Given the description of an element on the screen output the (x, y) to click on. 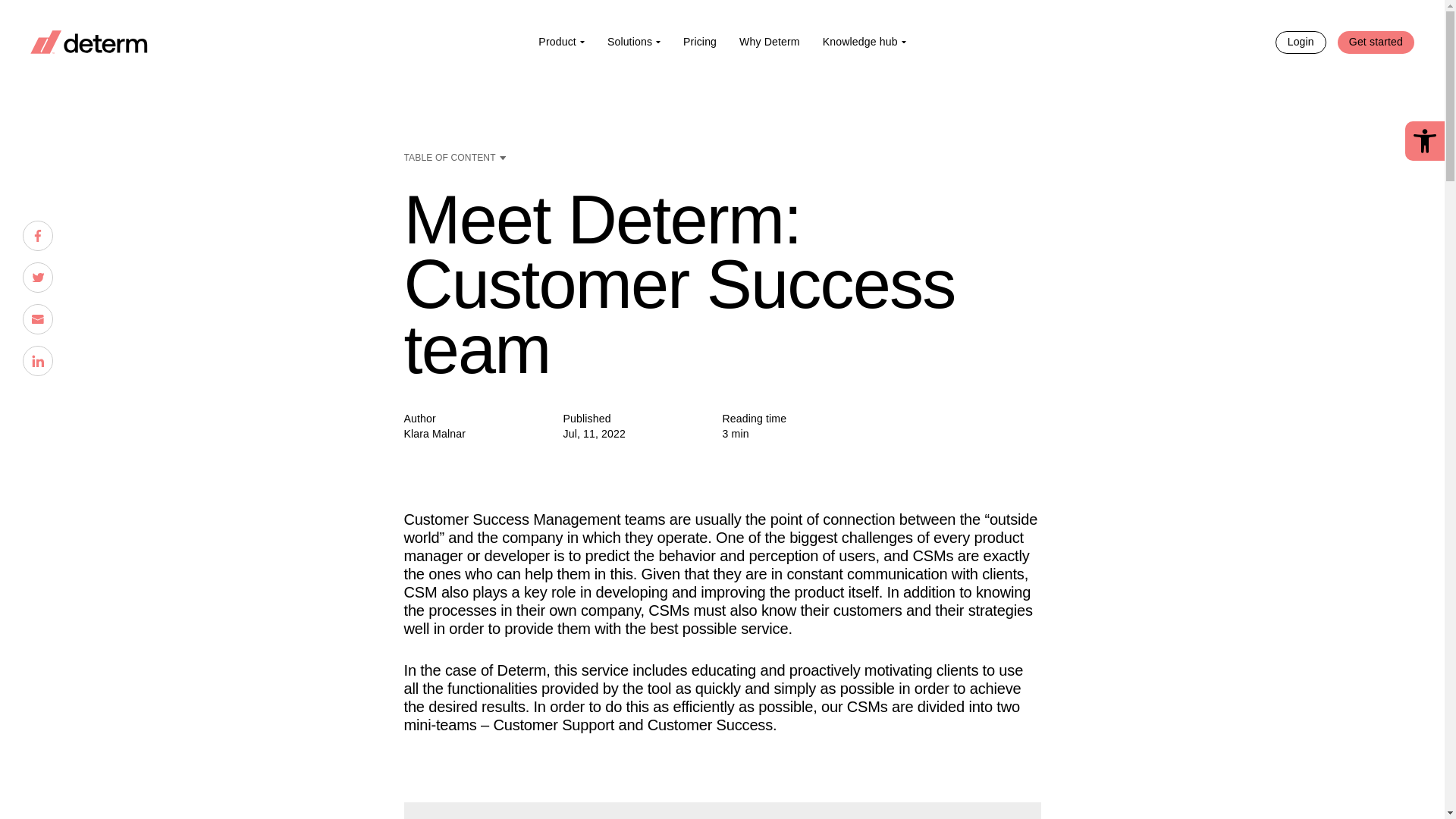
Pricing (699, 41)
Get started (1375, 41)
Knowledge hub (863, 41)
Login (1300, 41)
Solutions (633, 41)
Product (561, 41)
Why Determ (769, 41)
